Given the description of an element on the screen output the (x, y) to click on. 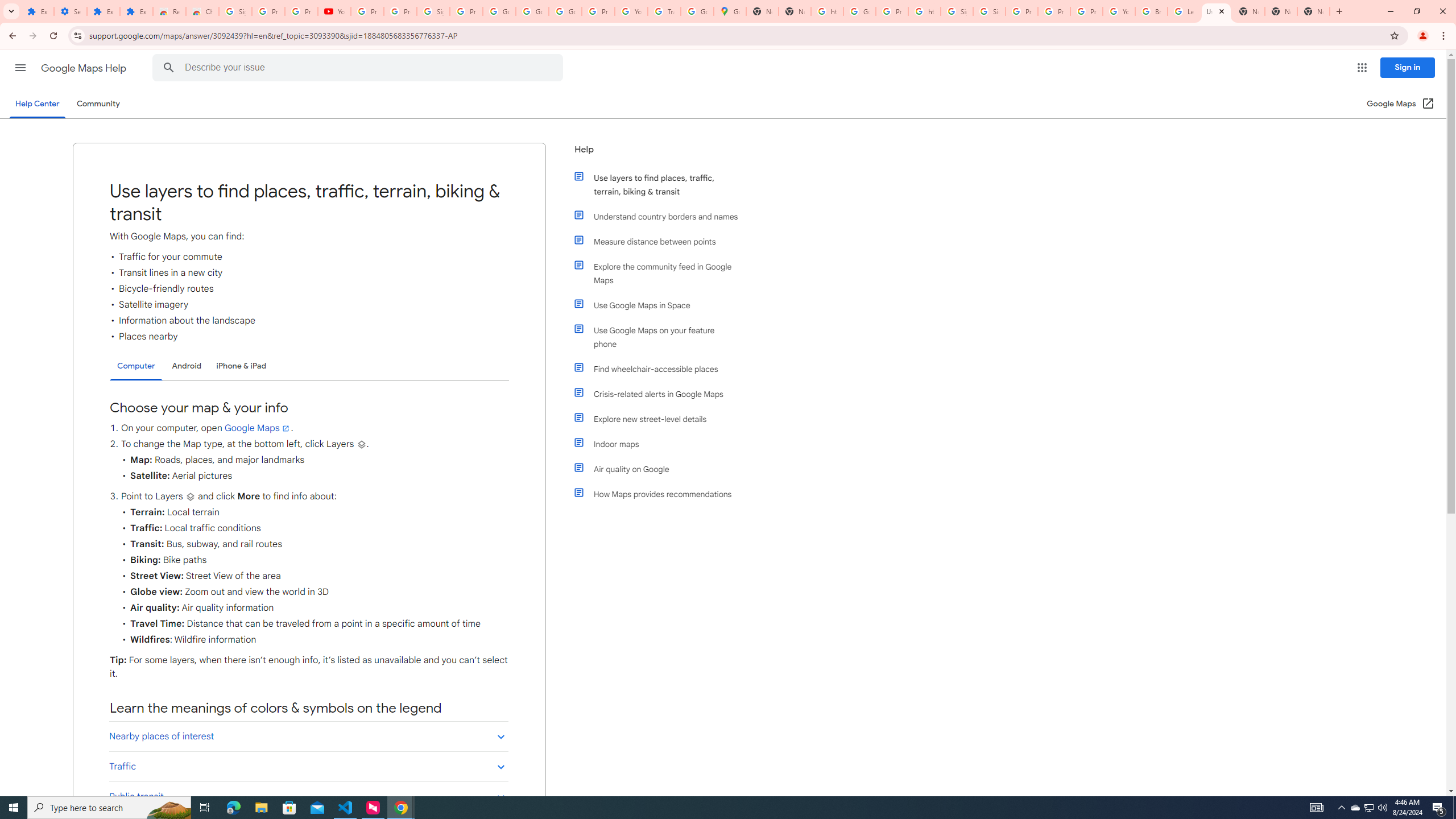
Use Google Maps on your feature phone (661, 336)
Sign in - Google Accounts (235, 11)
iPhone & iPad (240, 365)
Crisis-related alerts in Google Maps (661, 394)
Extensions (136, 11)
YouTube (1118, 11)
Google Maps (730, 11)
Google Account (532, 11)
Chrome Web Store - Themes (202, 11)
